Given the description of an element on the screen output the (x, y) to click on. 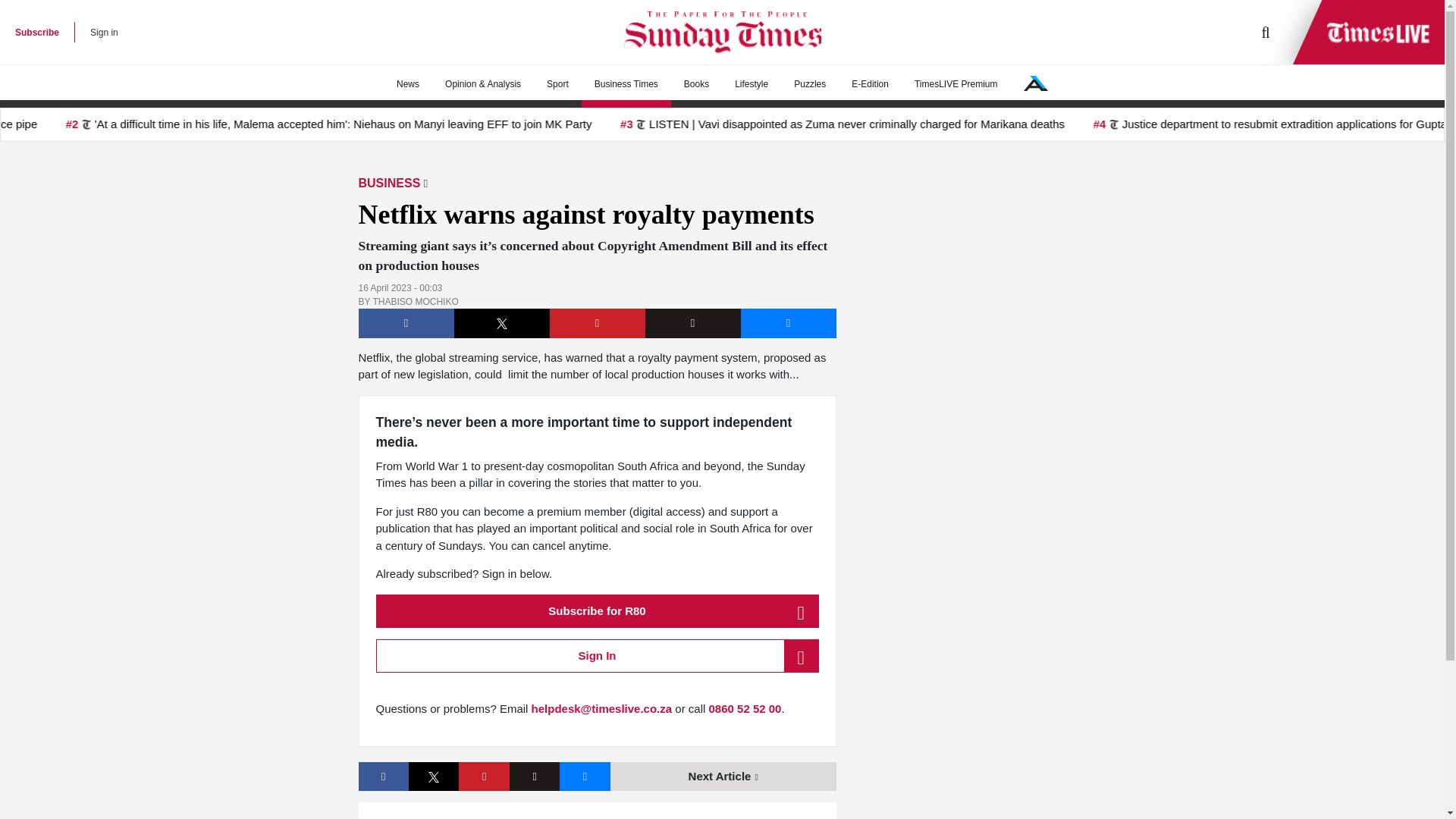
The power behind growing SA's fashion scene (722, 776)
News (408, 84)
Puzzles (809, 84)
Lifestyle (751, 84)
Business Times (625, 84)
Sign in (103, 32)
TimesLIVE Premium (955, 84)
Sport (557, 84)
Books (696, 84)
E-Edition (869, 84)
